Given the description of an element on the screen output the (x, y) to click on. 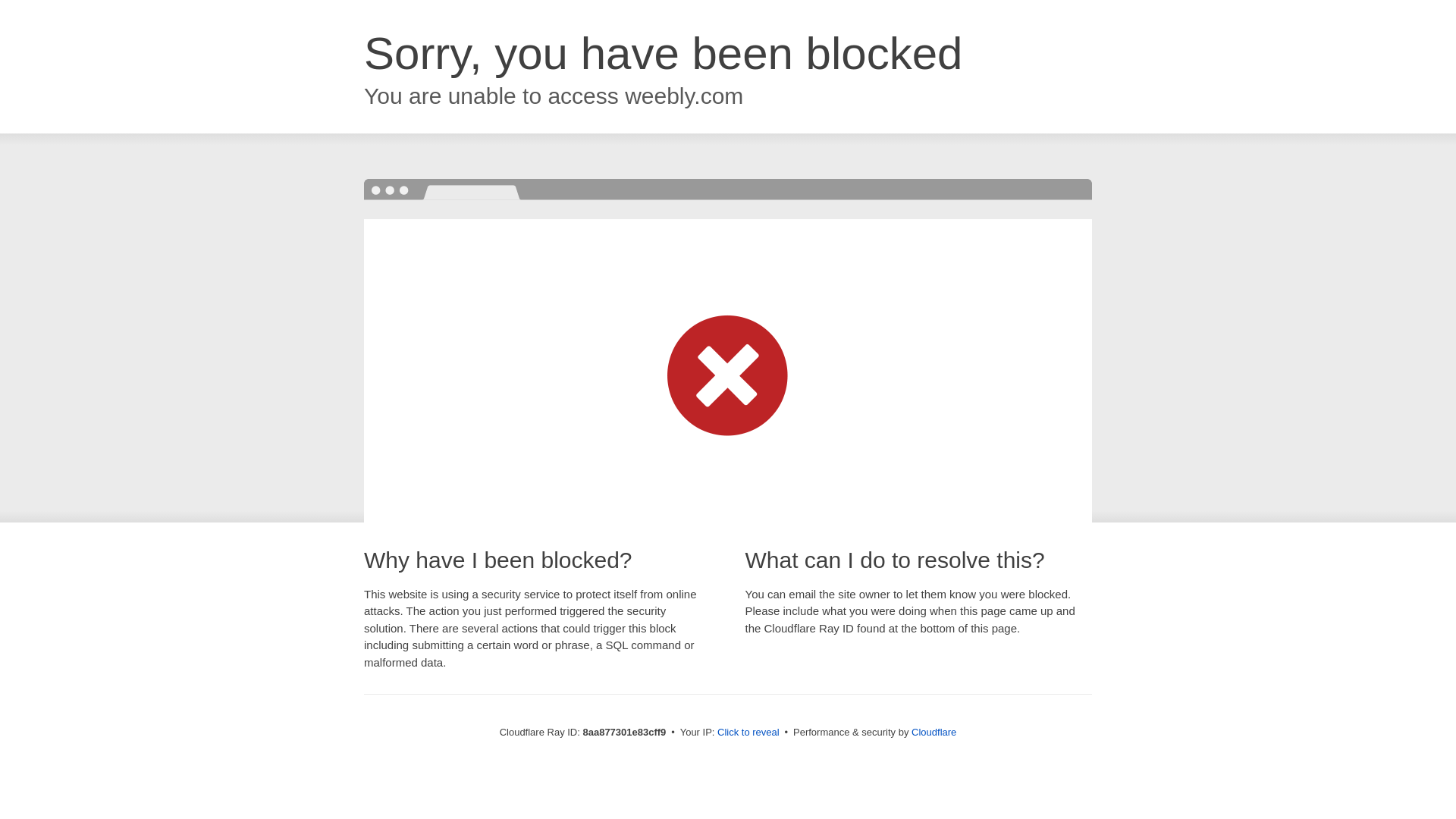
Cloudflare (933, 731)
Click to reveal (747, 732)
